Given the description of an element on the screen output the (x, y) to click on. 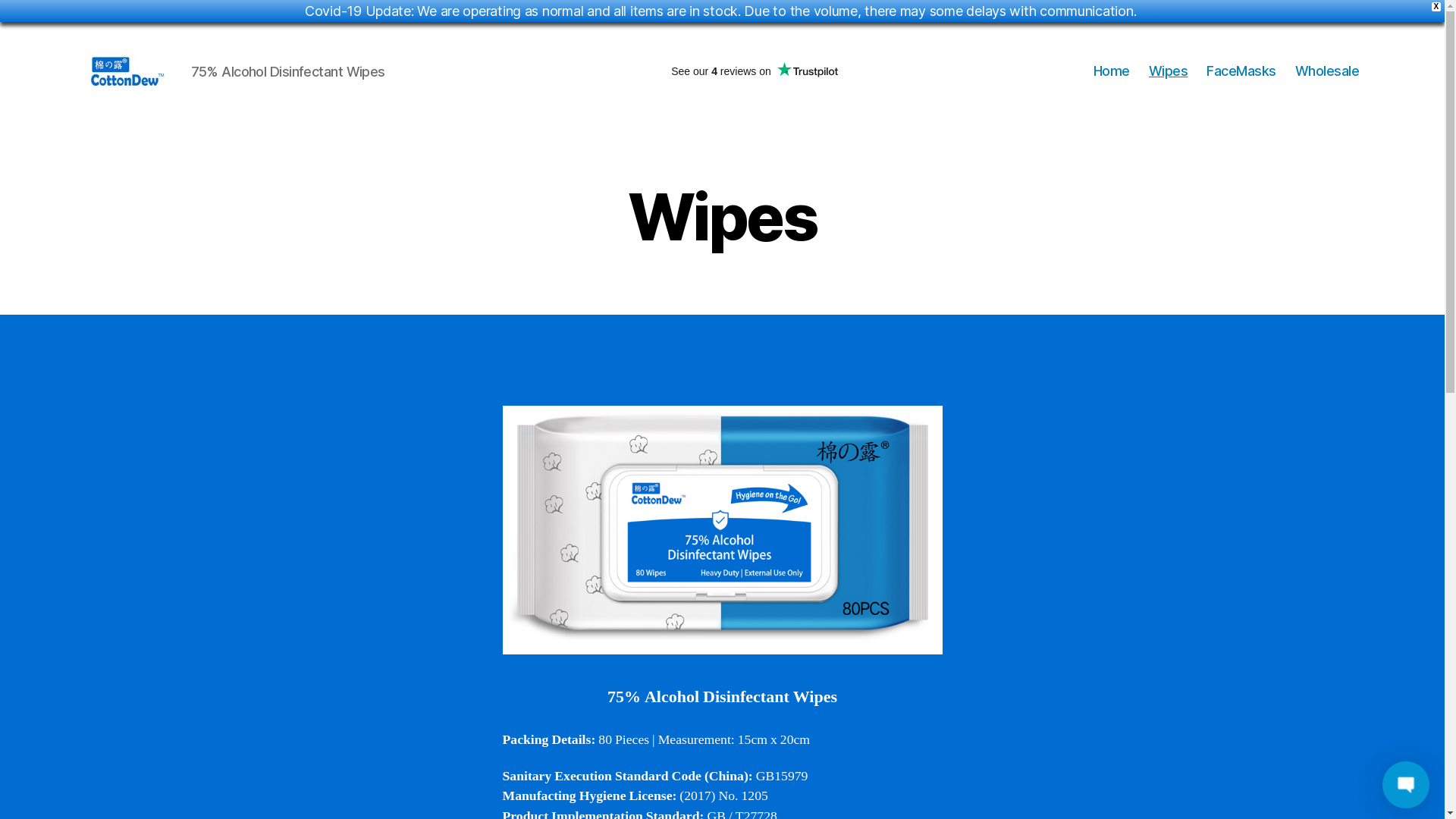
Home Element type: text (1111, 70)
Wholesale Element type: text (1327, 70)
FaceMasks Element type: text (1241, 70)
Customer reviews powered by Trustpilot Element type: hover (754, 71)
Wipes Element type: text (1168, 70)
